Given the description of an element on the screen output the (x, y) to click on. 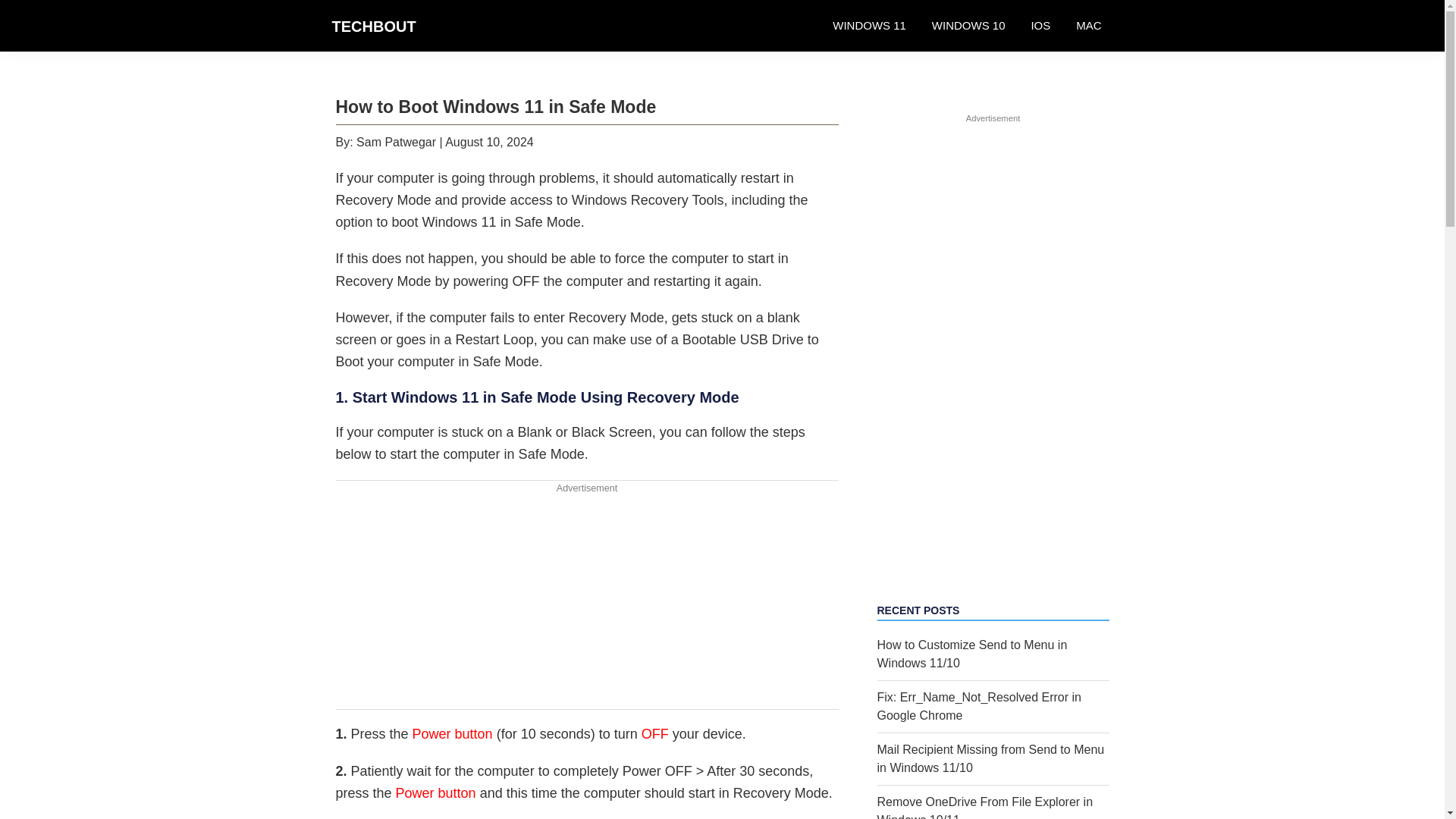
WINDOWS 10 (968, 25)
MAC (1088, 25)
IOS (1040, 25)
TECHBOUT (373, 26)
WINDOWS 11 (869, 25)
